Given the description of an element on the screen output the (x, y) to click on. 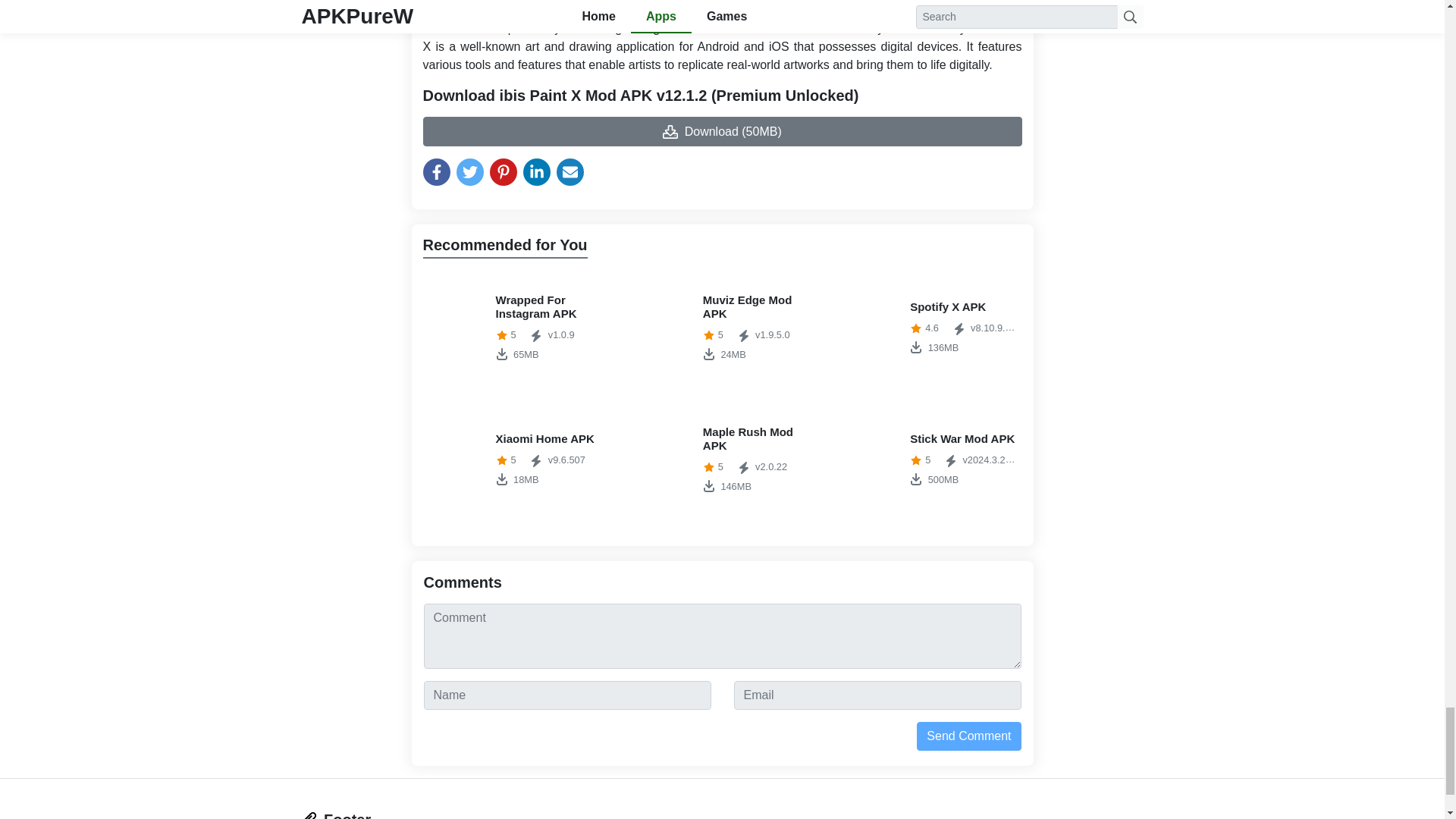
 Spotify X APK (870, 327)
 Maple Rush Mod APK (663, 459)
 Xiaomi Home APK  (515, 459)
 Xiaomi Home APK  (929, 459)
 Stick War Mod APK (515, 327)
 Stick War Mod APK (456, 459)
 Wrapped For Instagram APK  (929, 459)
 Maple Rush Mod APK (870, 459)
 Spotify X APK (515, 459)
 Muviz Edge Mod APK (456, 327)
Send Comment (721, 459)
